Given the description of an element on the screen output the (x, y) to click on. 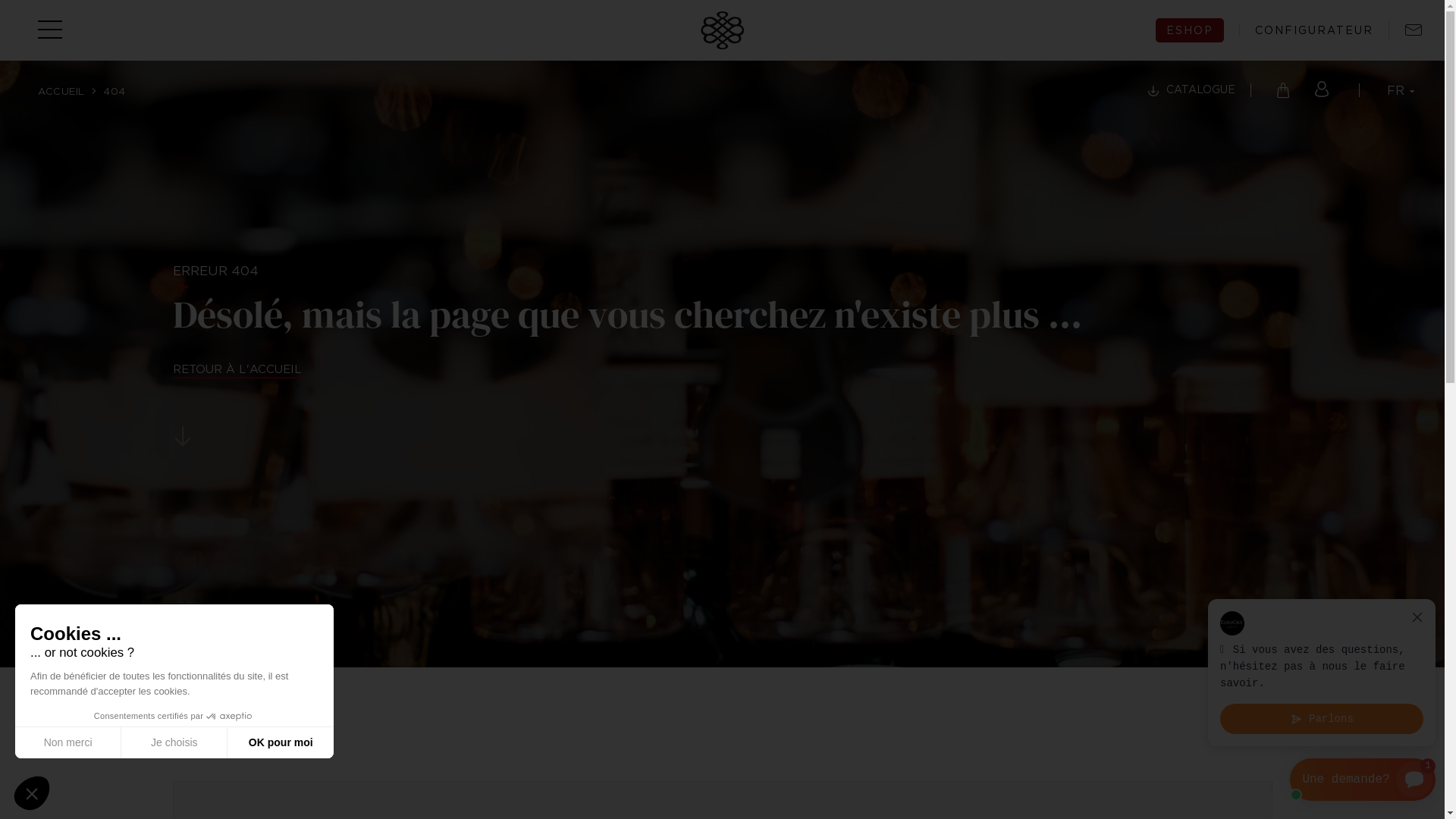
Modifier les cookies Element type: text (769, 786)
Non merci Element type: text (68, 742)
Nos garanties / livraisons Element type: text (806, 507)
Entretien Element type: text (806, 525)
VOIR LE SHOWROOM Element type: text (266, 650)
ESHOP Element type: text (1189, 30)
C'EST PARTI ! Element type: text (1055, 590)
Smartsupp widget popup Element type: hover (1321, 672)
OK pour moi Element type: text (280, 742)
Je choisis Element type: text (174, 742)
Smartsupp widget button Element type: hover (1362, 779)
ACCUEIL Element type: text (60, 90)
CGV Element type: text (678, 786)
NOUS CONTACTER Element type: text (258, 630)
Fermer le widget sans consentement Element type: hover (31, 793)
Climatiseur de cave Element type: text (548, 549)
Accueil EuroCave Swiss Element type: hover (722, 27)
CONFIGURATEUR Element type: text (1306, 30)
CATALOGUE Element type: text (1191, 90)
Rangements Element type: text (548, 604)
Accessoires Element type: text (548, 586)
